Given the description of an element on the screen output the (x, y) to click on. 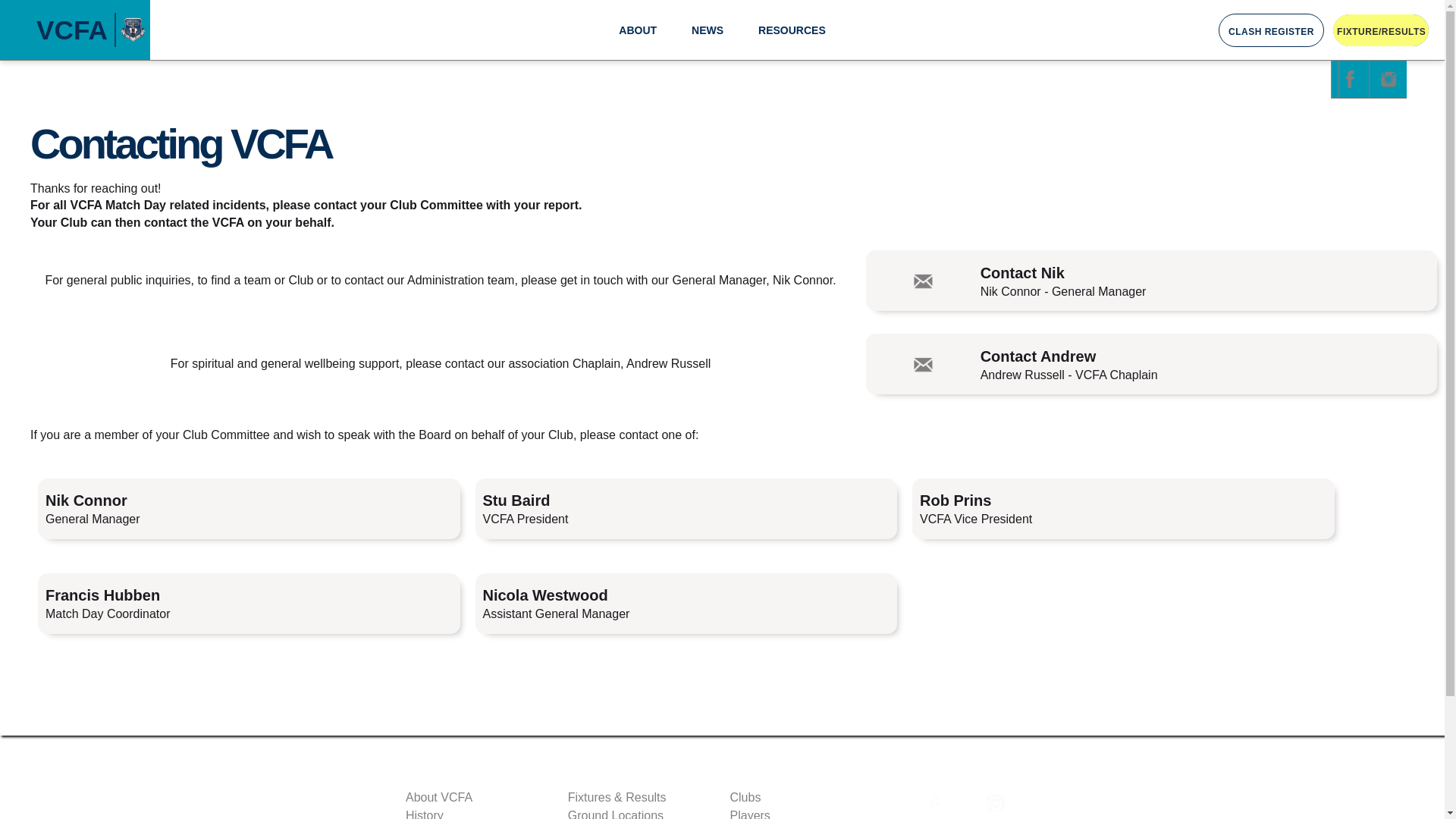
Nik Connor
General Manager Element type: text (248, 508)
Contact Nik
Nik Connor - General Manager Element type: text (1151, 280)
Nicola Westwood
Assistant General Manager Element type: text (685, 603)
VCFA Element type: text (75, 30)
Rob Prins
VCFA Vice President Element type: text (1123, 508)
Stu Baird
VCFA President Element type: text (685, 508)
Contact Andrew
Andrew Russell - VCFA Chaplain Element type: text (1151, 363)
FIXTURE/RESULTS Element type: text (1380, 30)
Francis Hubben
Match Day Coordinator Element type: text (248, 603)
Clubs Element type: text (802, 797)
About VCFA Element type: text (478, 797)
CLASH REGISTER Element type: text (1271, 30)
Fixtures & Results Element type: text (641, 797)
